Given the description of an element on the screen output the (x, y) to click on. 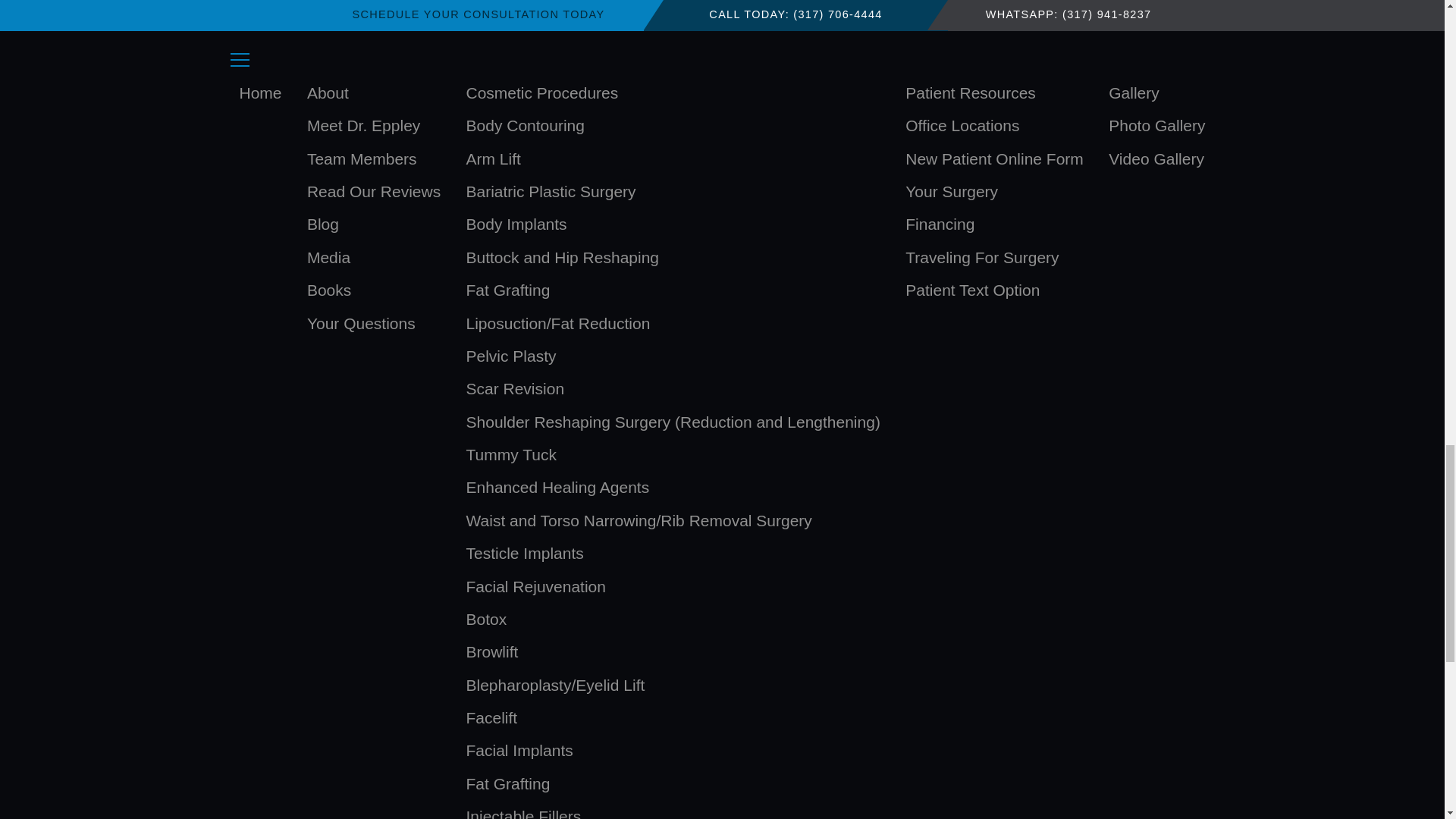
Send Message (722, 570)
